Given the description of an element on the screen output the (x, y) to click on. 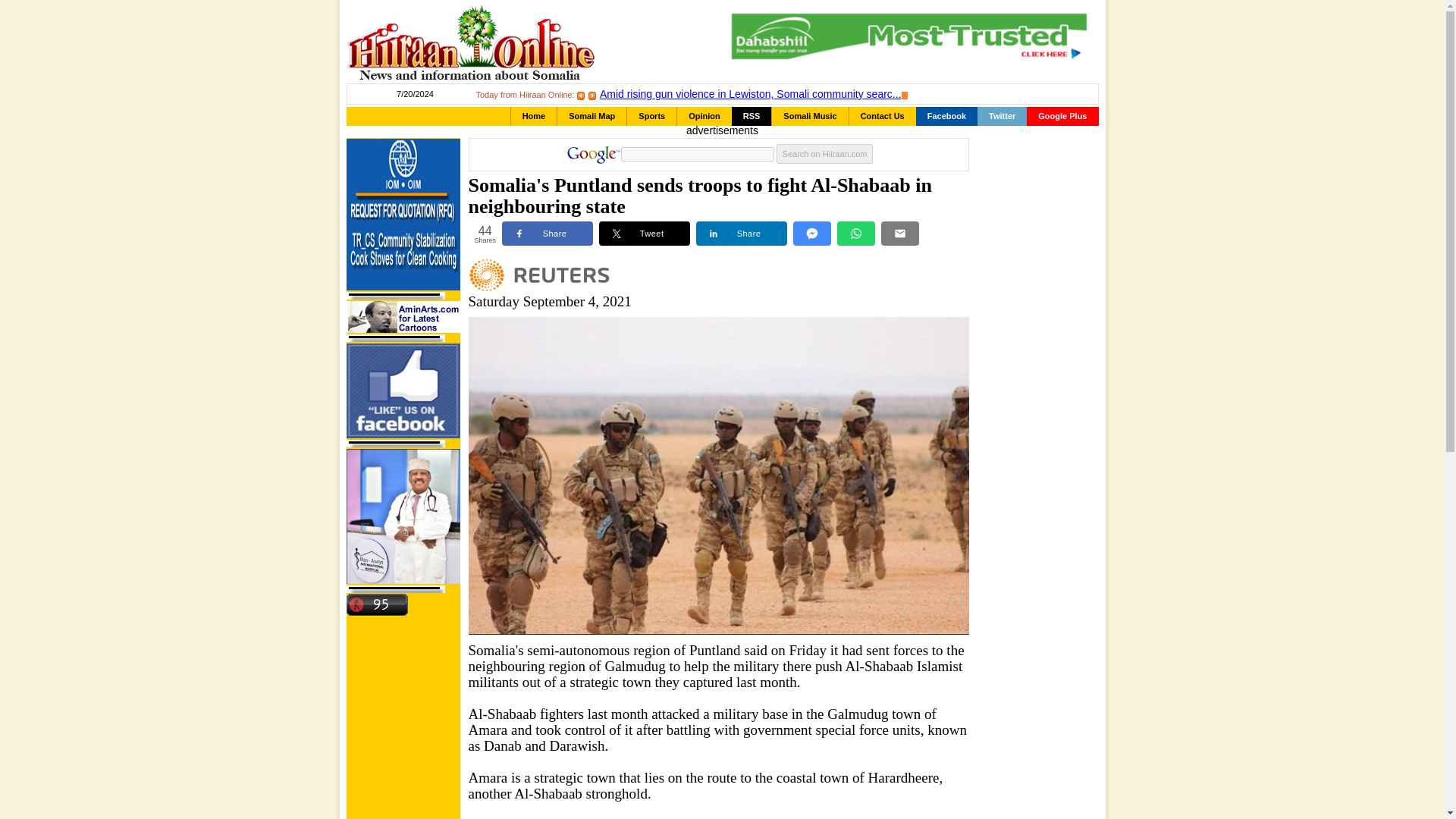
Click to see what's popular on this site! (376, 604)
Somali Map (591, 116)
Somali Music (809, 116)
Search on Hiiraan.com (824, 153)
Hiiraan Online (470, 41)
Facebook (945, 116)
Sports (652, 116)
Contact Us (881, 116)
Search on Hiiraan.com (824, 153)
Twitter (1001, 116)
Home (534, 116)
Google Plus (1061, 116)
Opinion (704, 116)
RSS (751, 116)
